Given the description of an element on the screen output the (x, y) to click on. 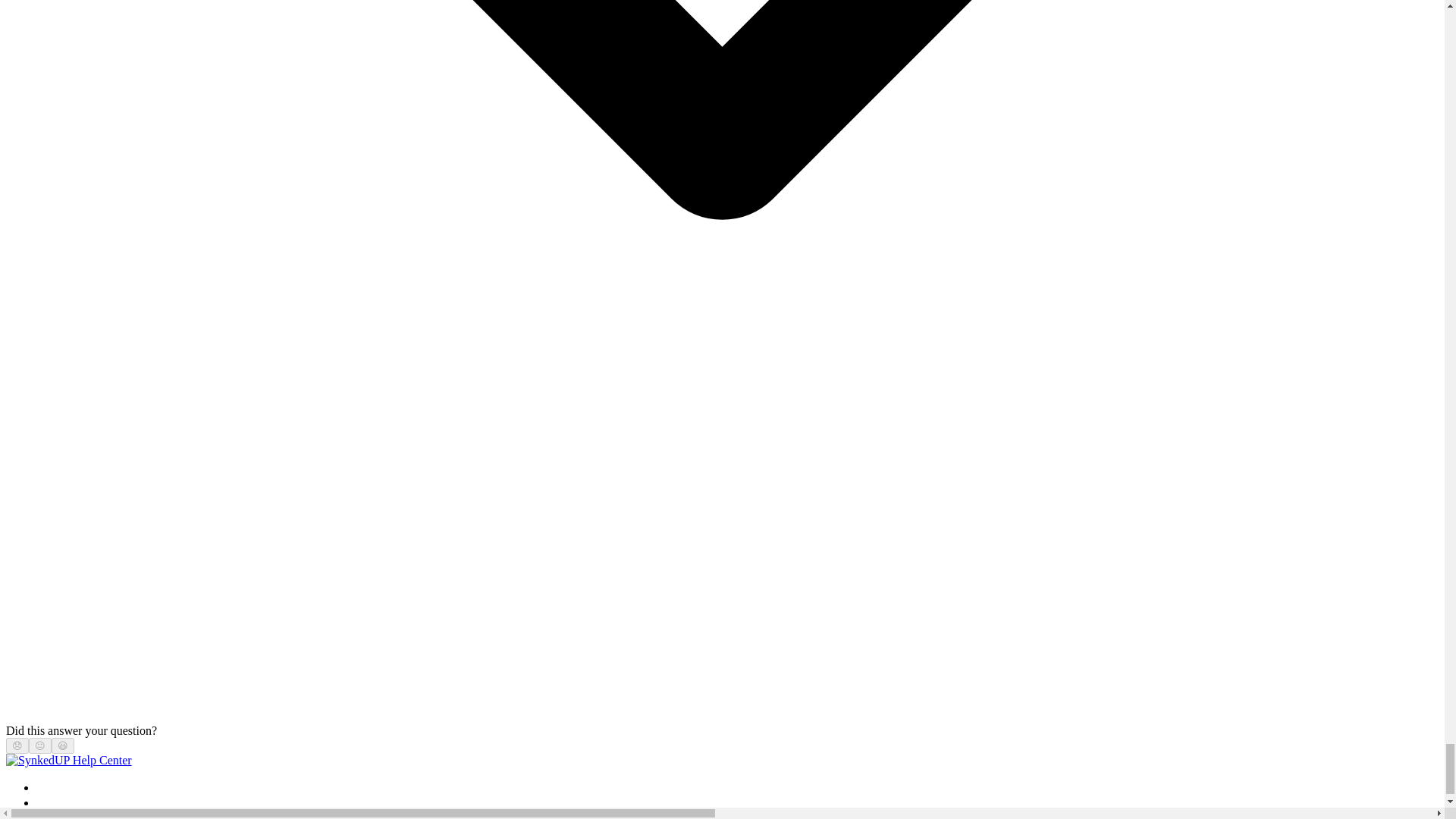
Disappointed (17, 745)
Smiley (63, 745)
Neutral (39, 745)
